Given the description of an element on the screen output the (x, y) to click on. 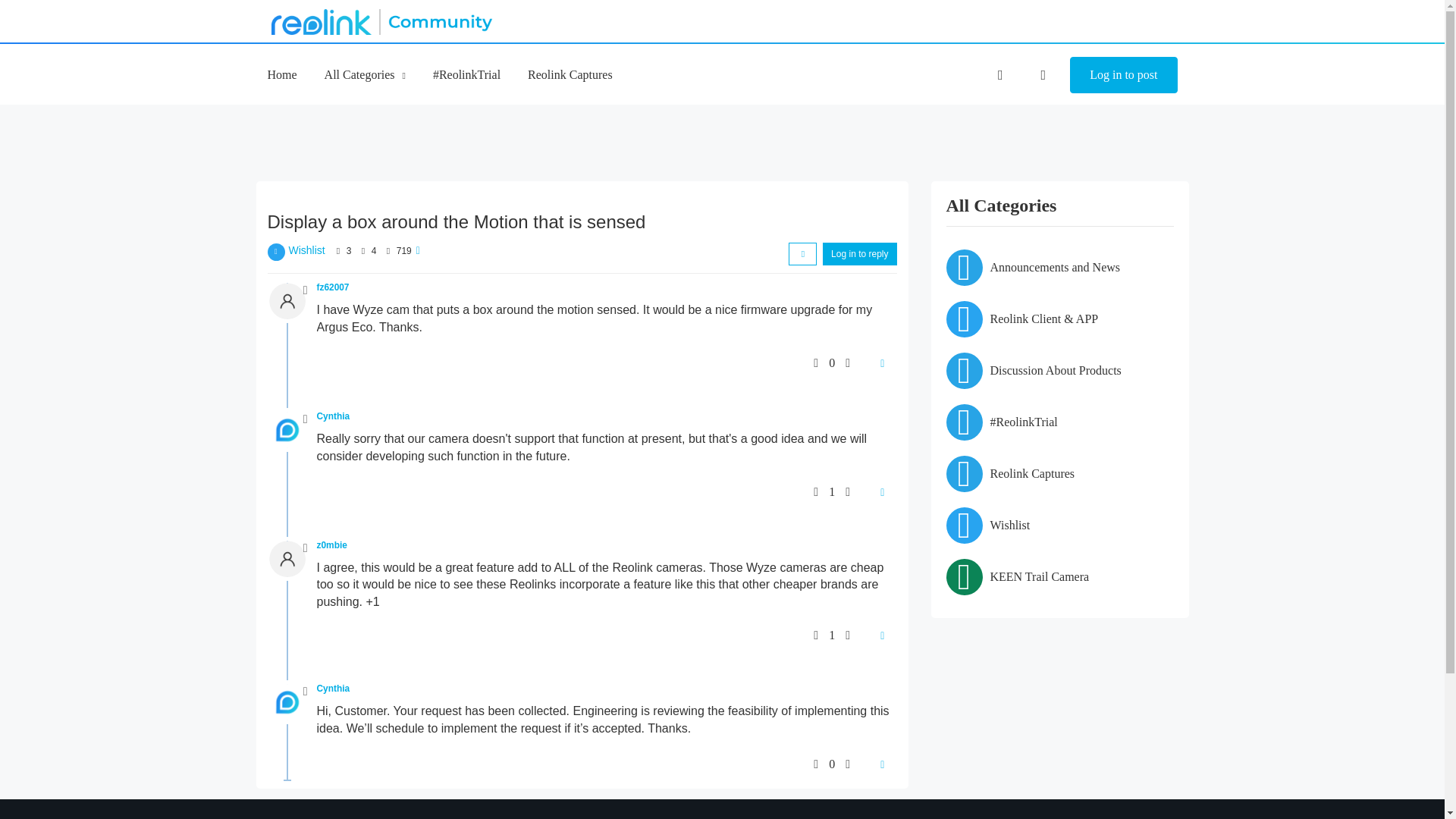
Reolink Captures (569, 74)
Log in to reply (859, 253)
Home (281, 74)
All Categories (365, 74)
Posts (362, 250)
Sort by (802, 253)
4 (374, 250)
Posters (338, 250)
719 (404, 250)
Offline (304, 290)
Offline (304, 419)
Views (387, 250)
Log in to post (1123, 75)
Wishlist (306, 250)
3 (349, 250)
